Given the description of an element on the screen output the (x, y) to click on. 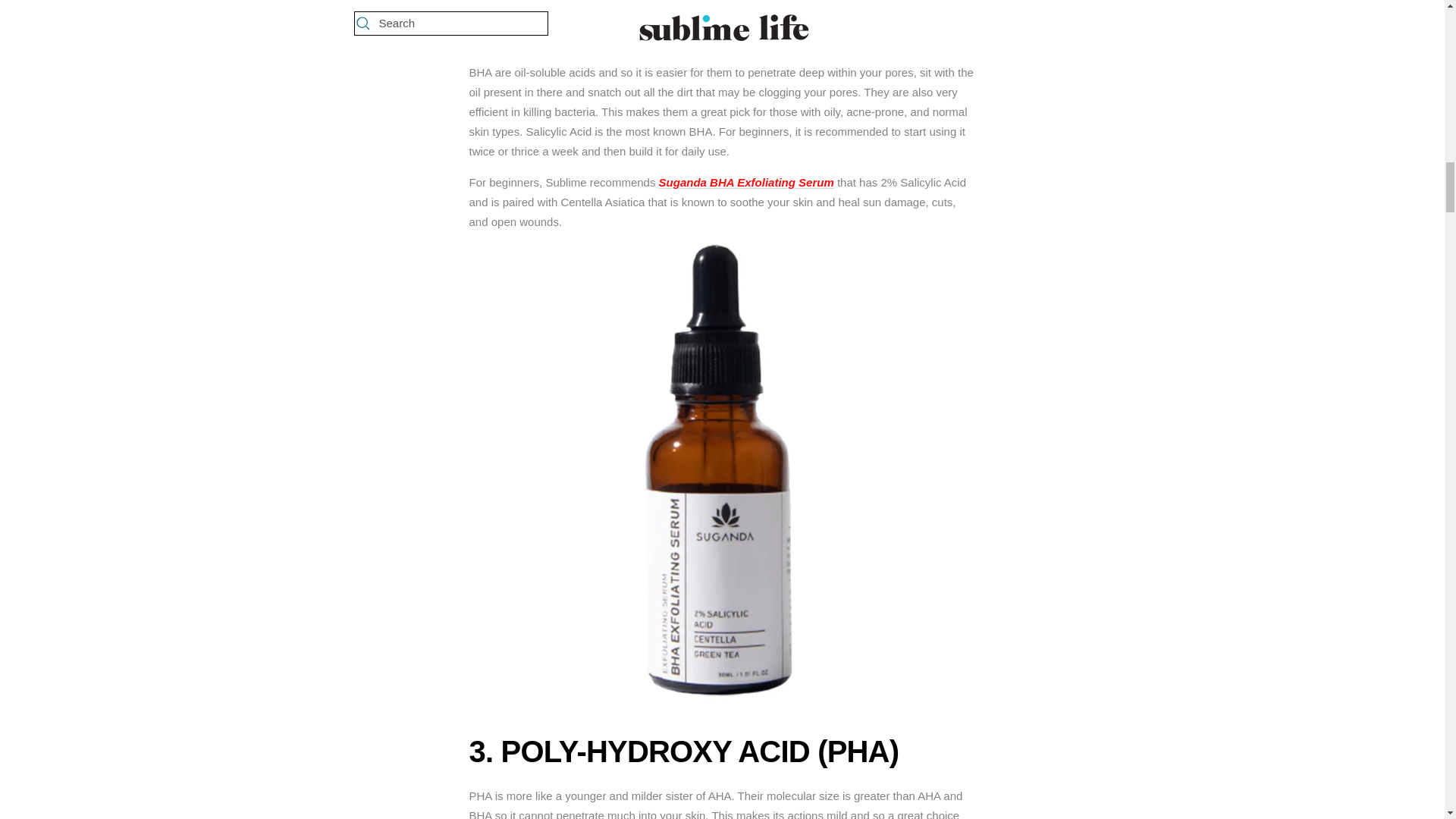
Suganda BHA Exfoliating Serum on www.sublimelife.in (746, 182)
Suganda BHA Exfoliating Serum (746, 182)
Suganda BHA Exfoliating Serum on www.sublimelife.in (722, 252)
